Given the description of an element on the screen output the (x, y) to click on. 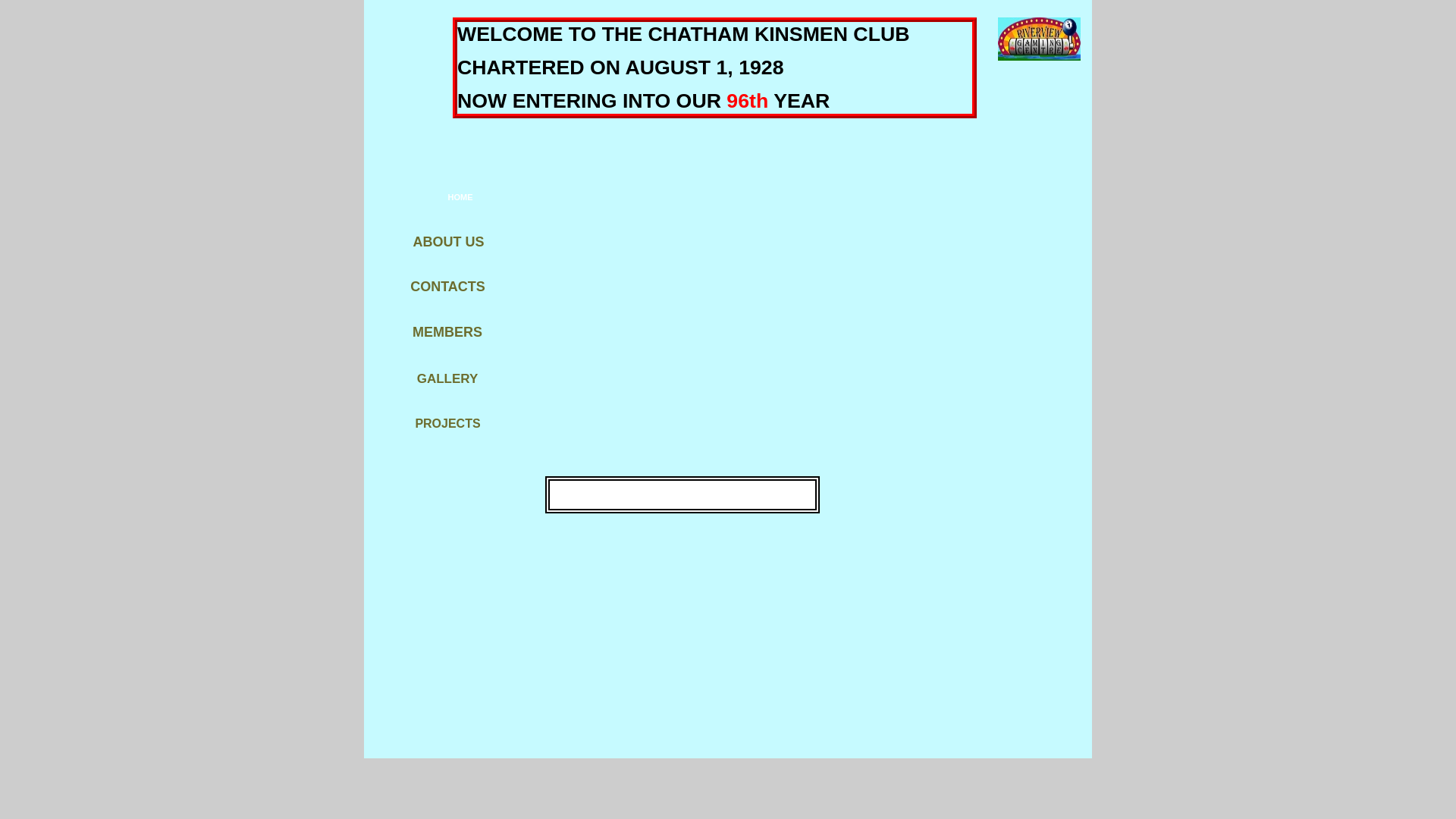
ABOUT US (449, 241)
HOME (454, 196)
CONTACTS (448, 286)
GALLERY (447, 379)
PROJECTS (448, 423)
MEMBERS (448, 331)
